Given the description of an element on the screen output the (x, y) to click on. 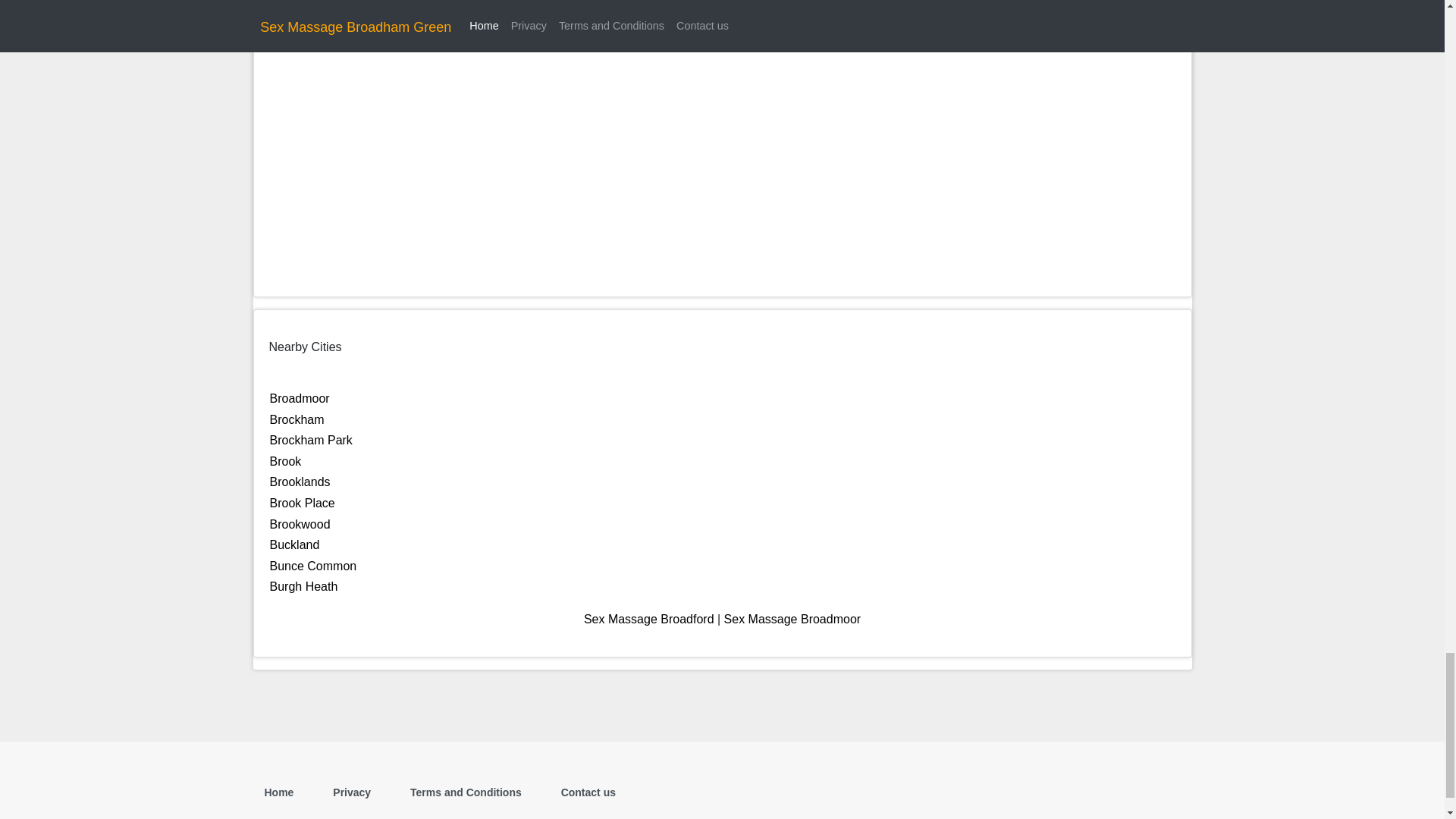
Buckland (294, 544)
Sex Massage Broadford (648, 618)
Brookwood (299, 523)
Brockham (296, 419)
Burgh Heath (303, 585)
Sex Massage Broadmoor (792, 618)
Brockham Park (310, 440)
Bunce Common (312, 565)
Brook (285, 461)
Brooklands (299, 481)
Brook Place (301, 502)
Broadmoor (299, 398)
